Given the description of an element on the screen output the (x, y) to click on. 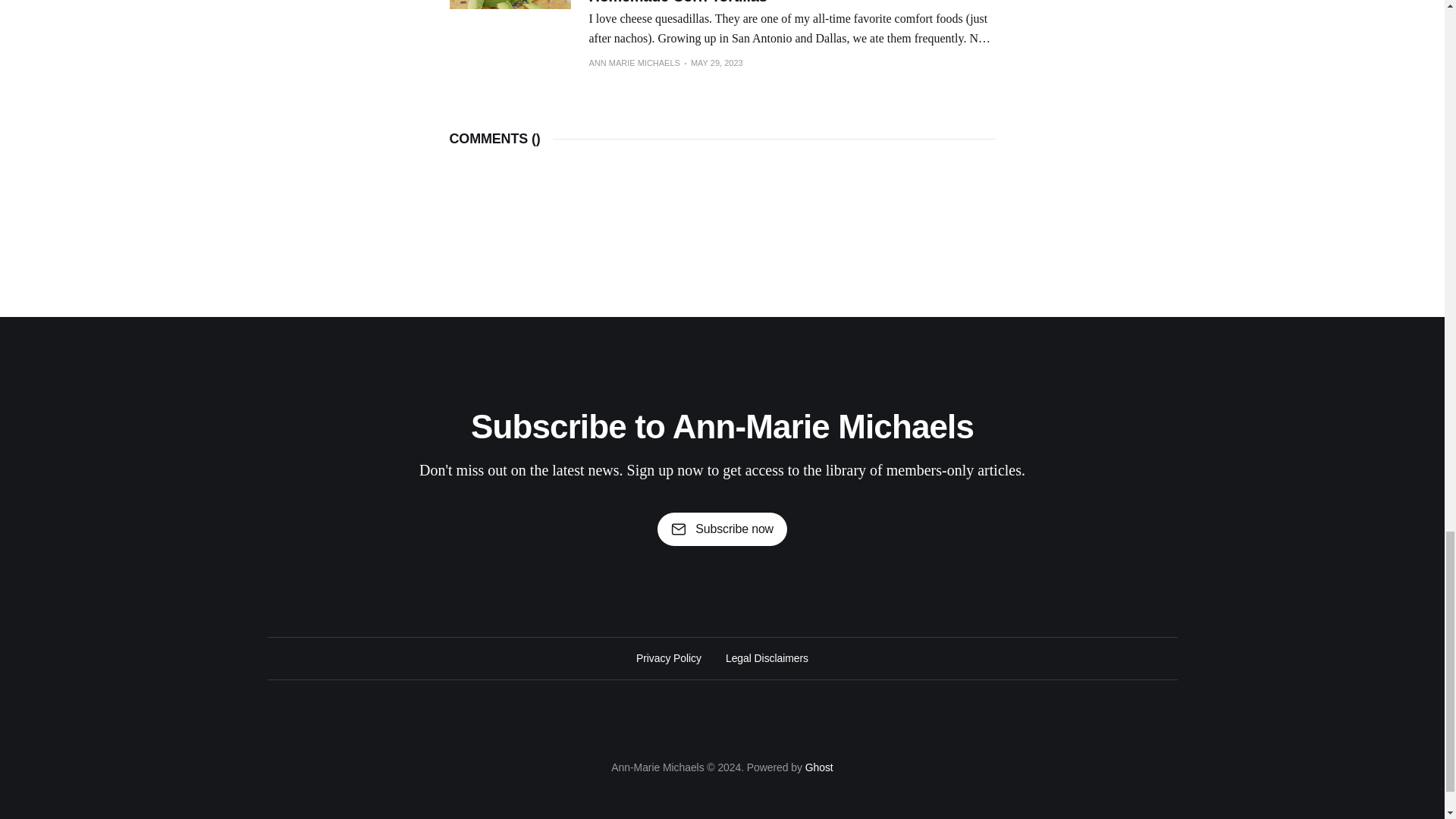
Legal Disclaimers (766, 658)
Privacy Policy (668, 658)
Ghost (818, 767)
Subscribe now (722, 529)
